Given the description of an element on the screen output the (x, y) to click on. 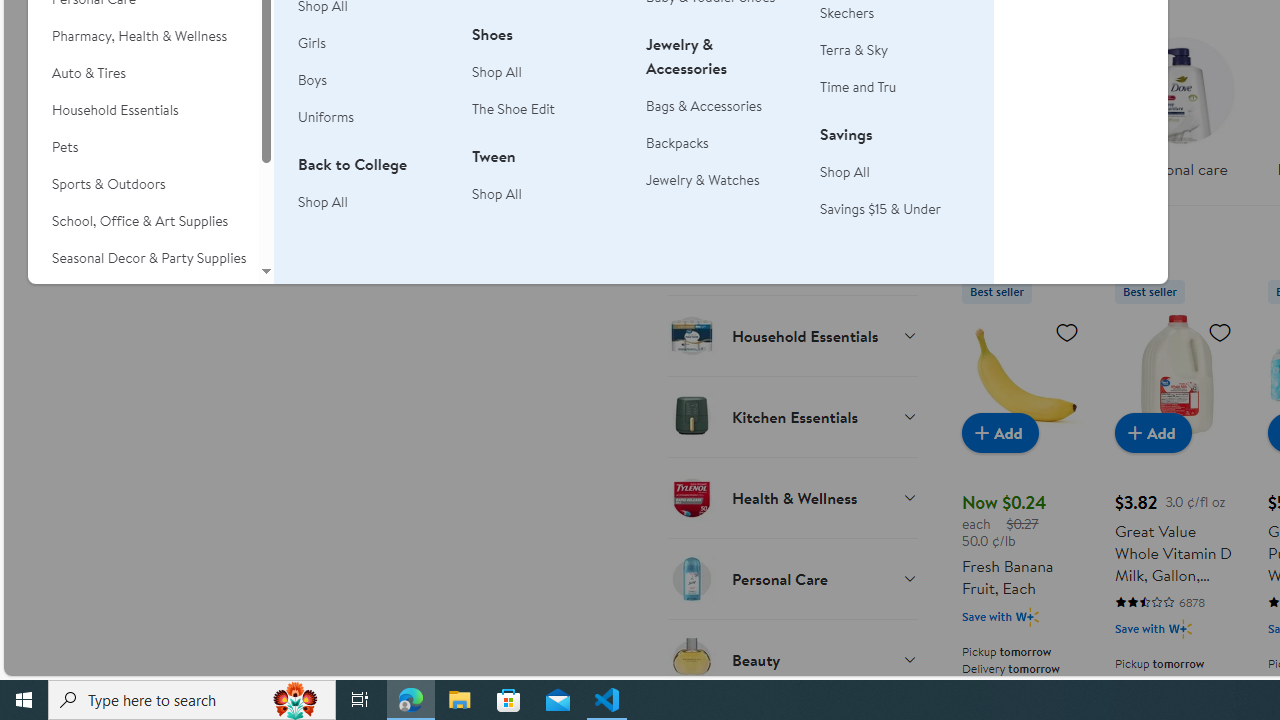
Pets (143, 147)
Savings $15 & Under (895, 209)
Seasonal Decor & Party Supplies (143, 258)
Personal care (1180, 101)
School, Office & Art Supplies (143, 221)
Household essentials (1023, 114)
Sign in to add to Favorites list, Fresh Banana Fruit, Each (1066, 331)
Add to cart - Fresh Banana Fruit, Each (1000, 431)
The Shoe Edit (547, 109)
Sports & Outdoors (143, 184)
